Given the description of an element on the screen output the (x, y) to click on. 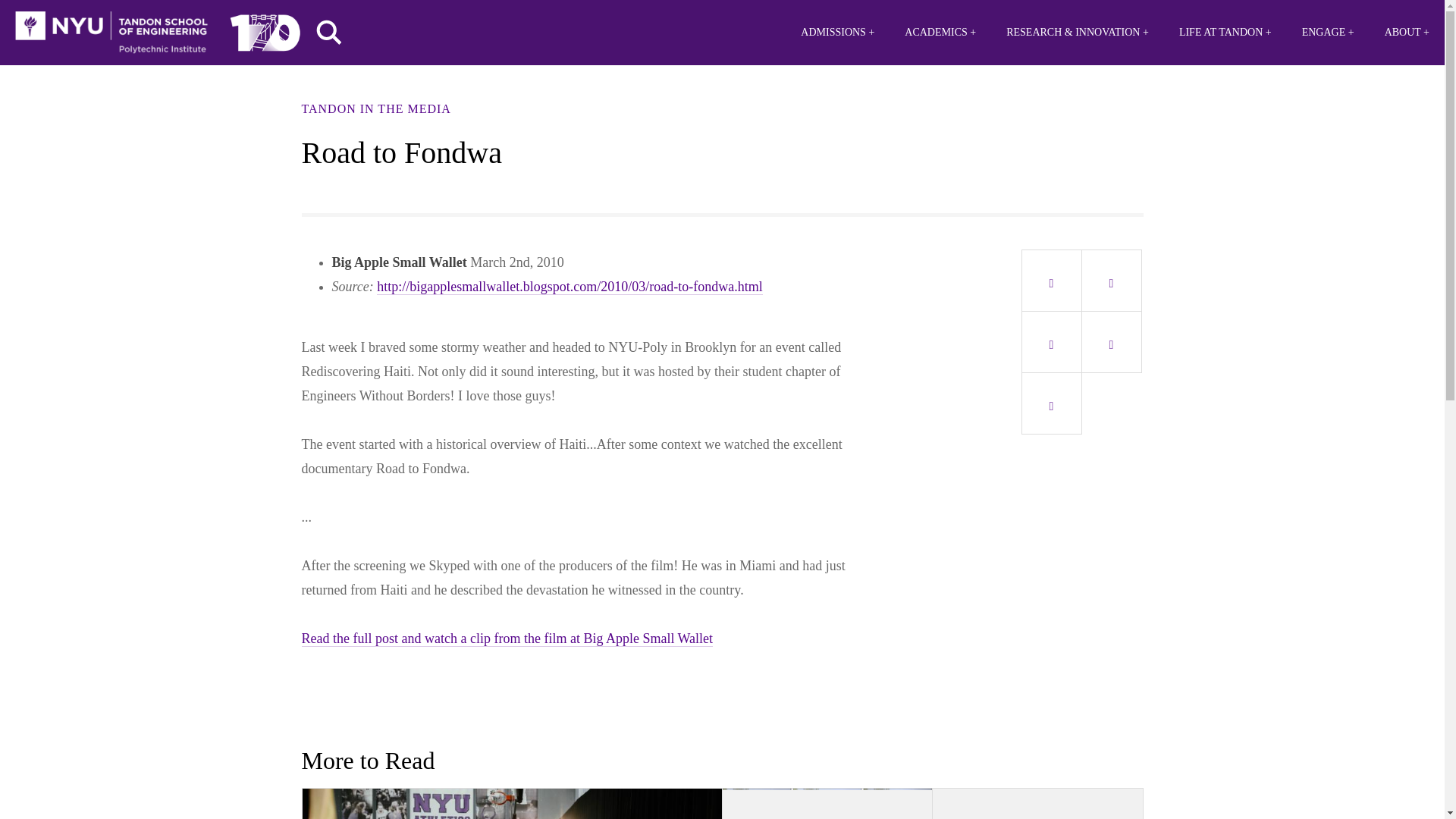
NYU Tandon Anniversary (264, 29)
NYU Tandon Logo (111, 32)
NYU Tandon School of Engineering - Polytechnic Institute (111, 32)
